Given the description of an element on the screen output the (x, y) to click on. 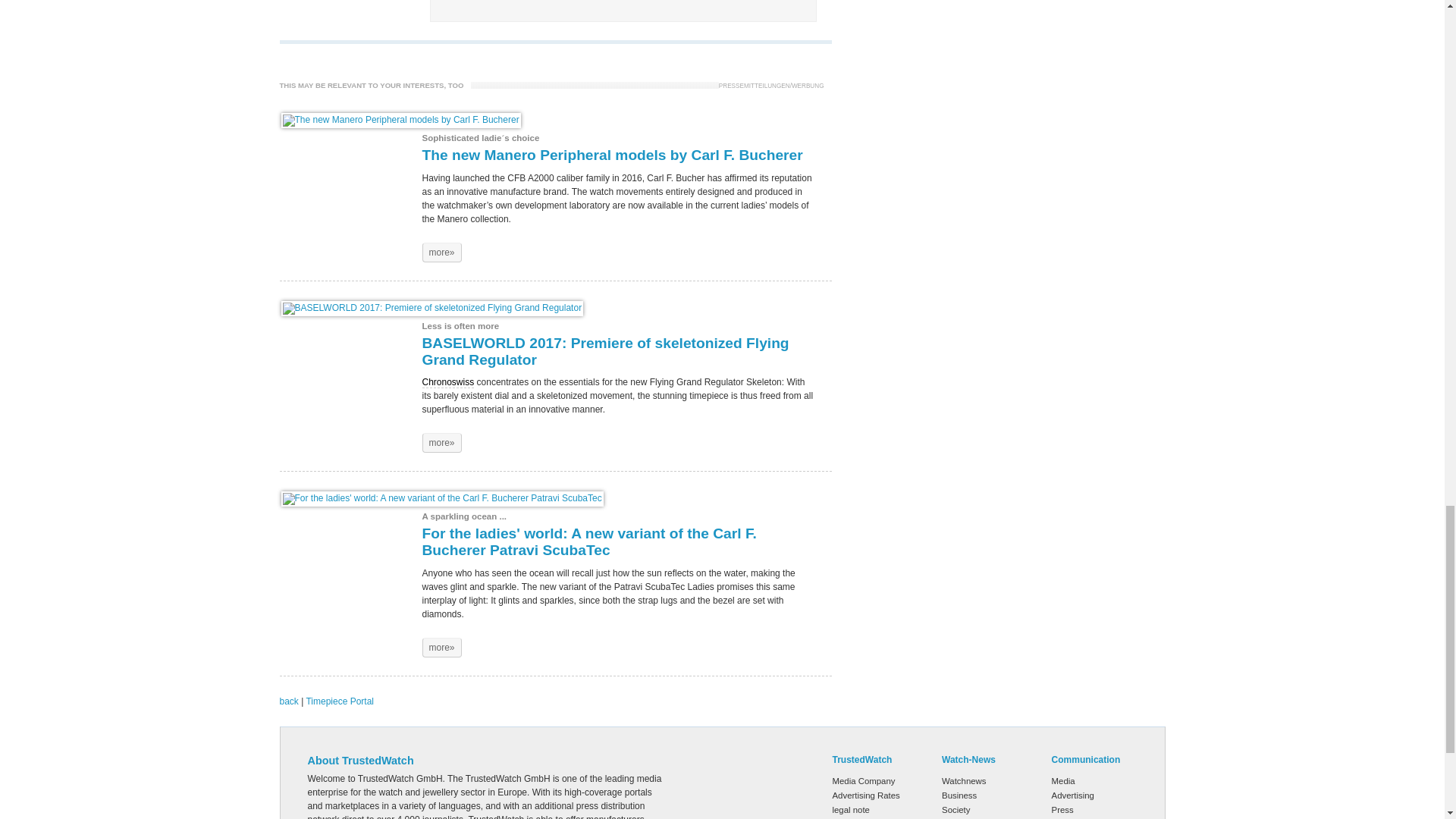
The new Manero Peripheral models by Carl F. Bucherer  (400, 120)
The new Manero Peripheral models by Carl F. Bucherer  (441, 252)
